Given the description of an element on the screen output the (x, y) to click on. 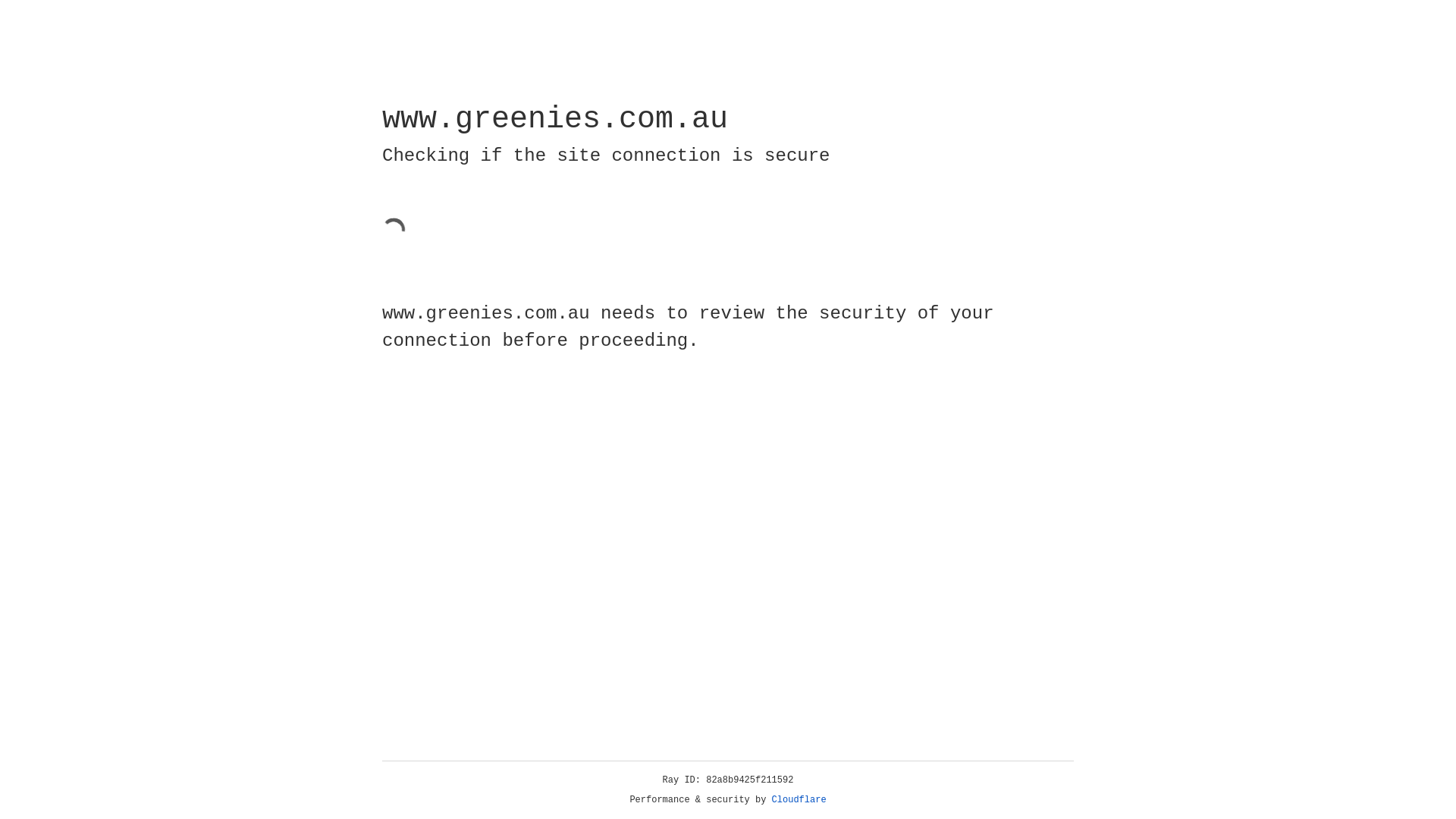
Cloudflare Element type: text (798, 799)
